Given the description of an element on the screen output the (x, y) to click on. 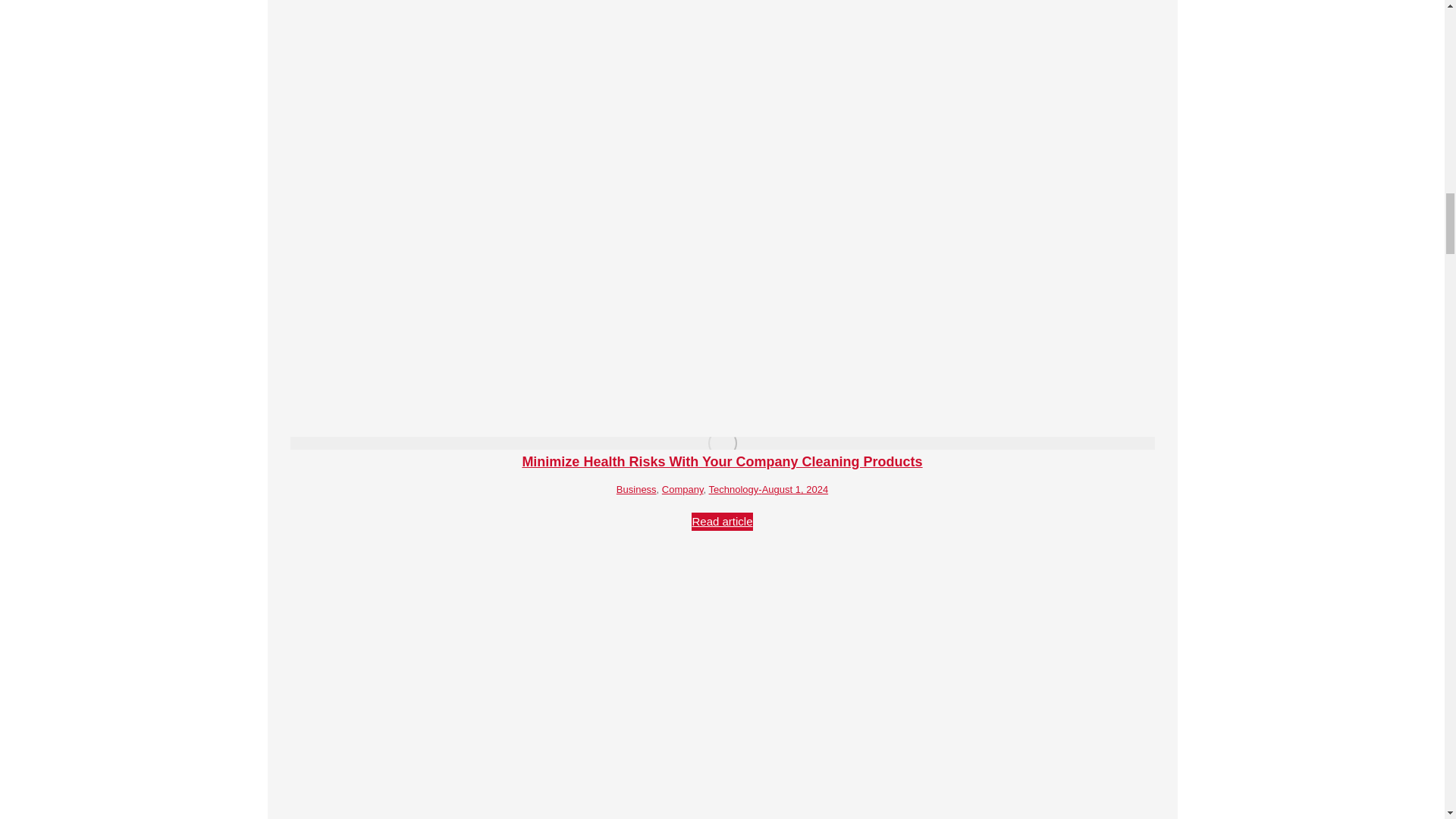
5:22 pm (793, 489)
August 1, 2024 (793, 489)
Minimize Health Risks With Your Company Cleaning Products (721, 461)
Minimize Health Risks With Your Company Cleaning Products (721, 461)
Read article (721, 521)
Technology (733, 489)
Business (635, 489)
Company (682, 489)
